Given the description of an element on the screen output the (x, y) to click on. 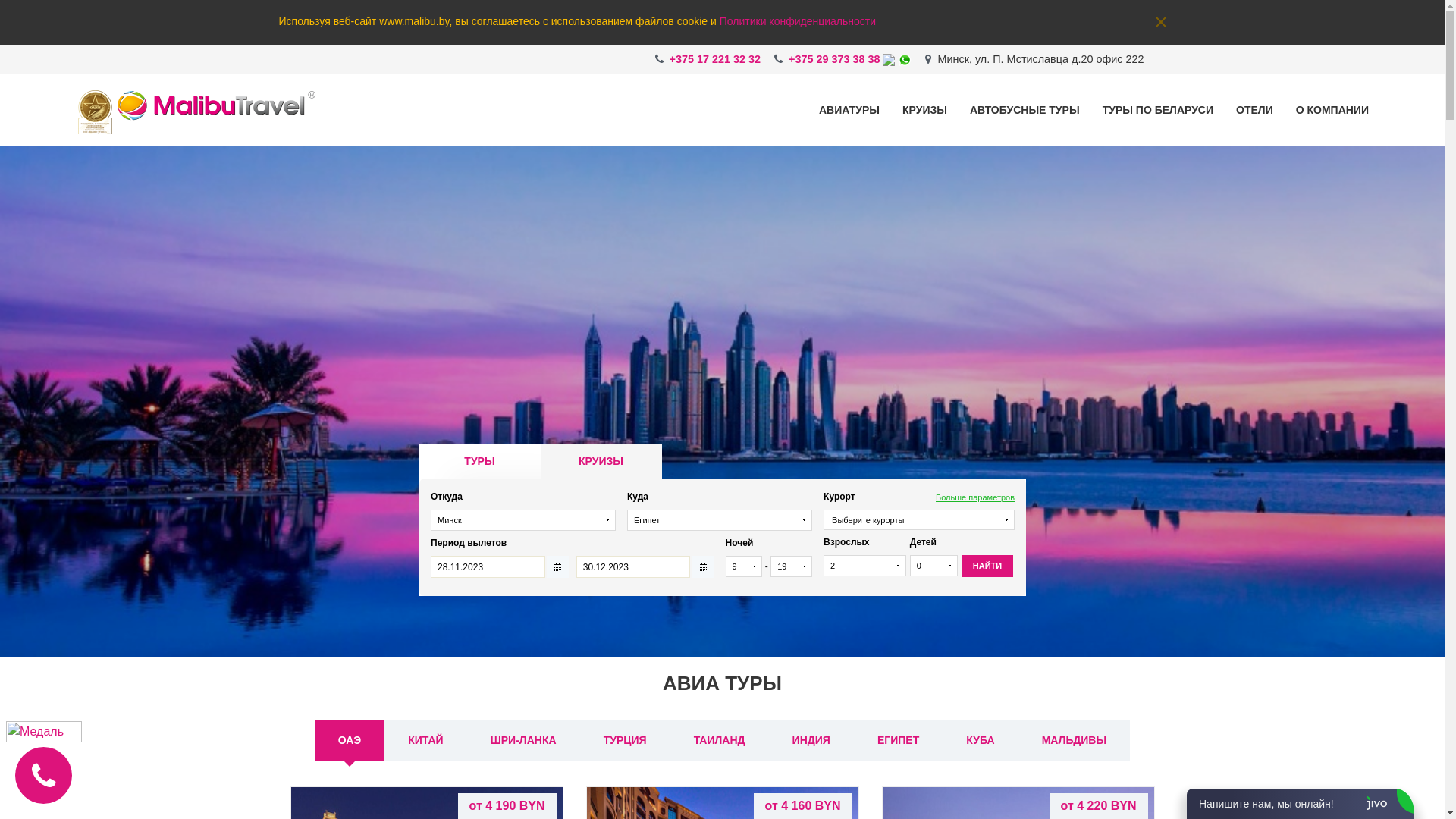
+375 17 221 32 32 Element type: text (714, 59)
+375 29 373 38 38 Element type: text (833, 59)
